Given the description of an element on the screen output the (x, y) to click on. 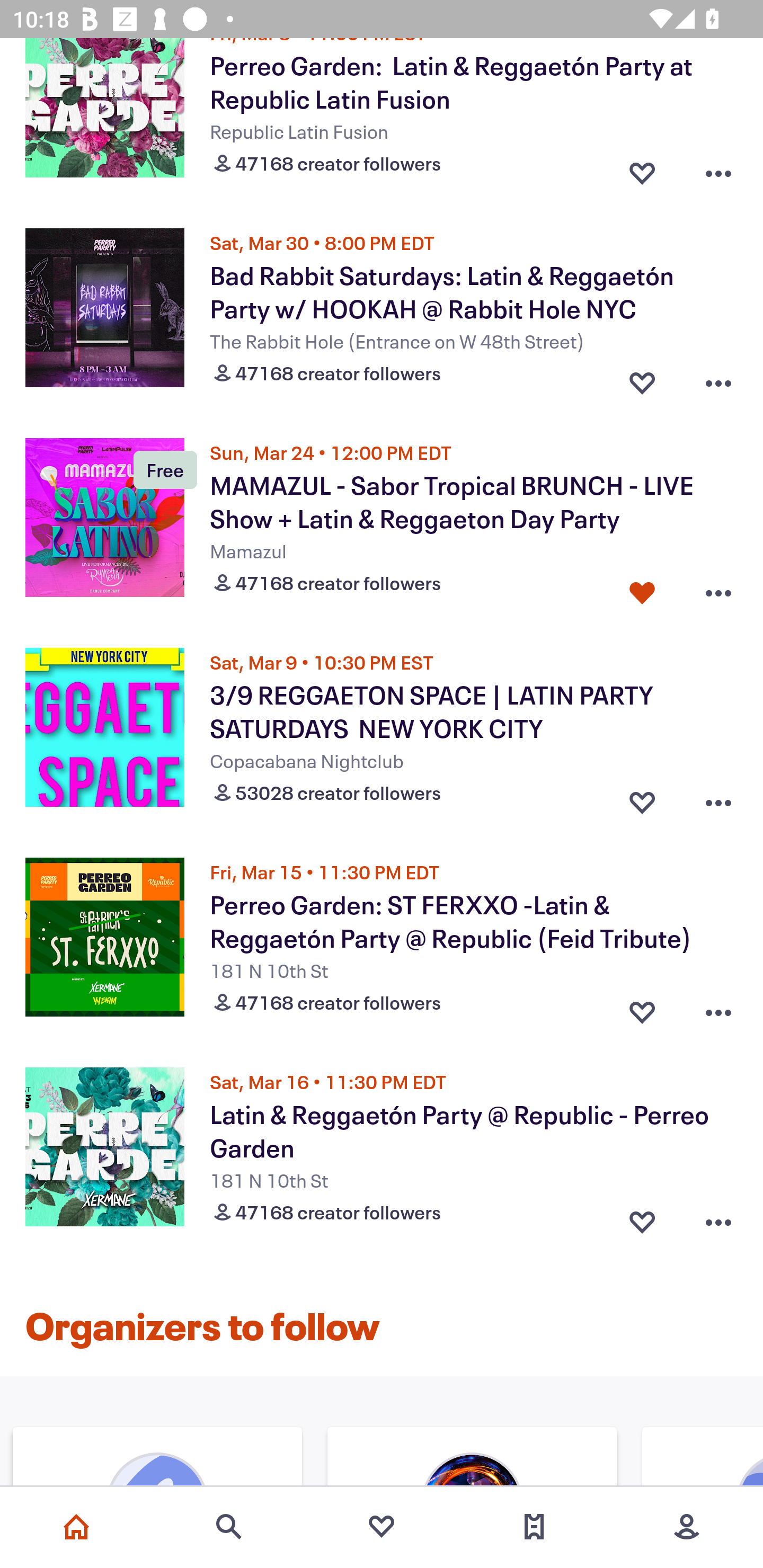
Favorite button (642, 168)
Overflow menu button (718, 168)
Favorite button (642, 378)
Overflow menu button (718, 378)
Favorite button (642, 588)
Overflow menu button (718, 588)
Favorite button (642, 798)
Overflow menu button (718, 798)
Favorite button (642, 1008)
Overflow menu button (718, 1008)
Favorite button (642, 1217)
Overflow menu button (718, 1217)
Home (76, 1526)
Search events (228, 1526)
Favorites (381, 1526)
Tickets (533, 1526)
More (686, 1526)
